Given the description of an element on the screen output the (x, y) to click on. 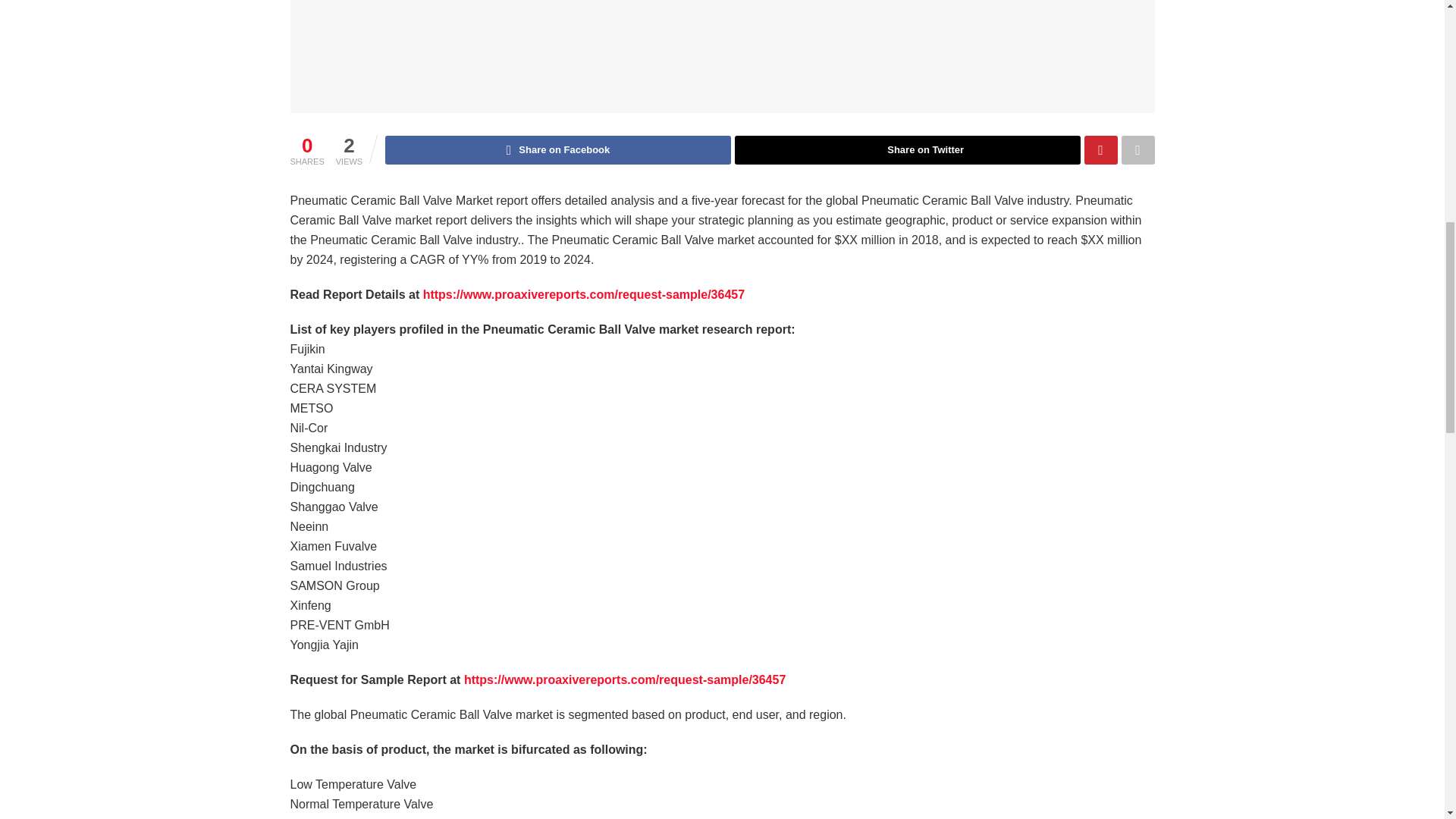
Share on Twitter (907, 149)
Share on Facebook (557, 149)
